Given the description of an element on the screen output the (x, y) to click on. 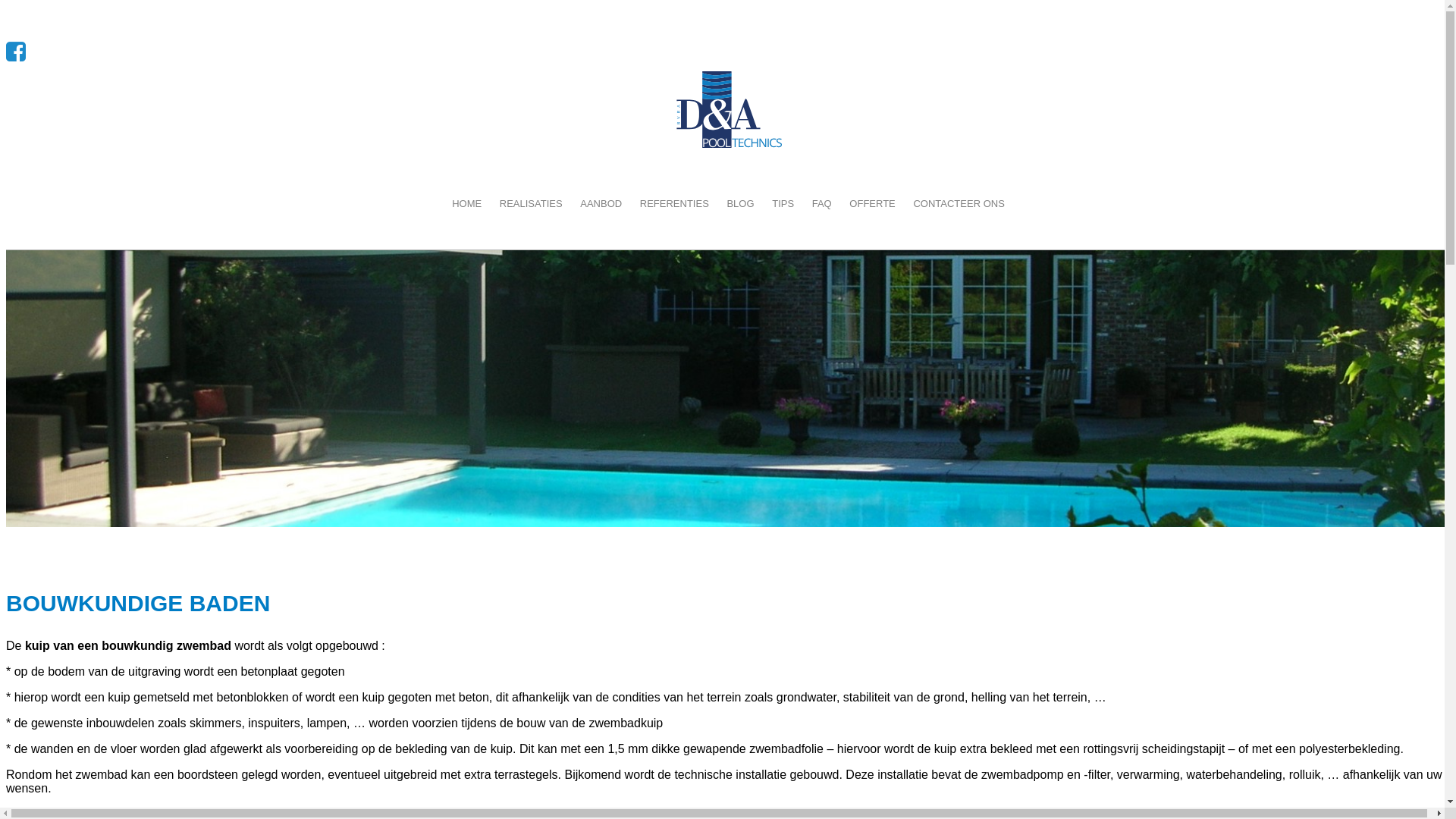
HOME Element type: text (466, 203)
OFFERTE Element type: text (871, 203)
BLOG Element type: text (739, 203)
REFERENTIES Element type: text (674, 203)
D&A Pooltechnics Element type: hover (728, 110)
AANBOD Element type: text (600, 203)
FAQ Element type: text (821, 203)
REALISATIES Element type: text (531, 203)
CONTACTEER ONS Element type: text (958, 203)
TIPS Element type: text (782, 203)
